Given the description of an element on the screen output the (x, y) to click on. 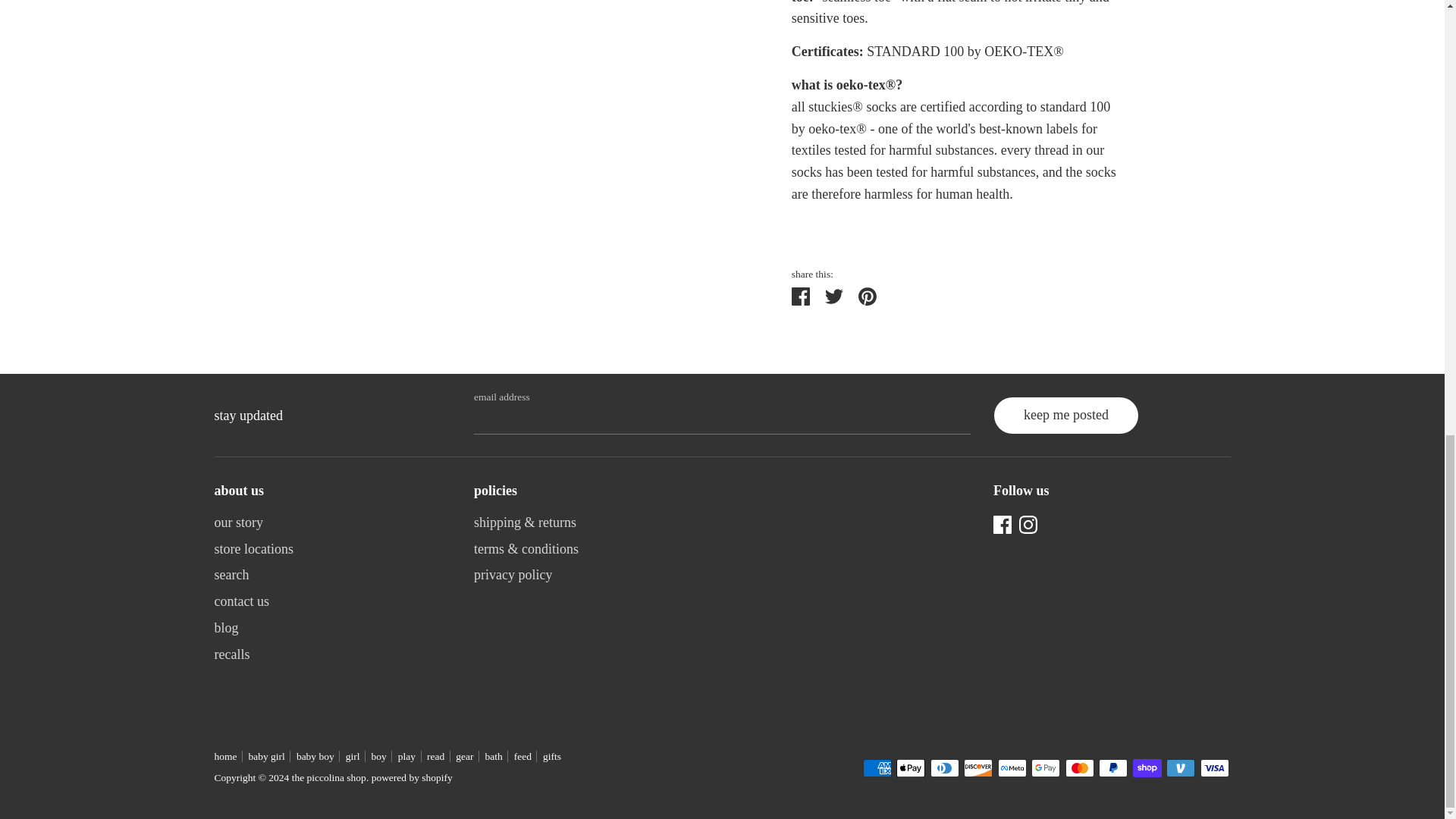
Facebook (1001, 522)
Apple Pay (910, 768)
American Express (877, 768)
Instagram (1027, 522)
